Given the description of an element on the screen output the (x, y) to click on. 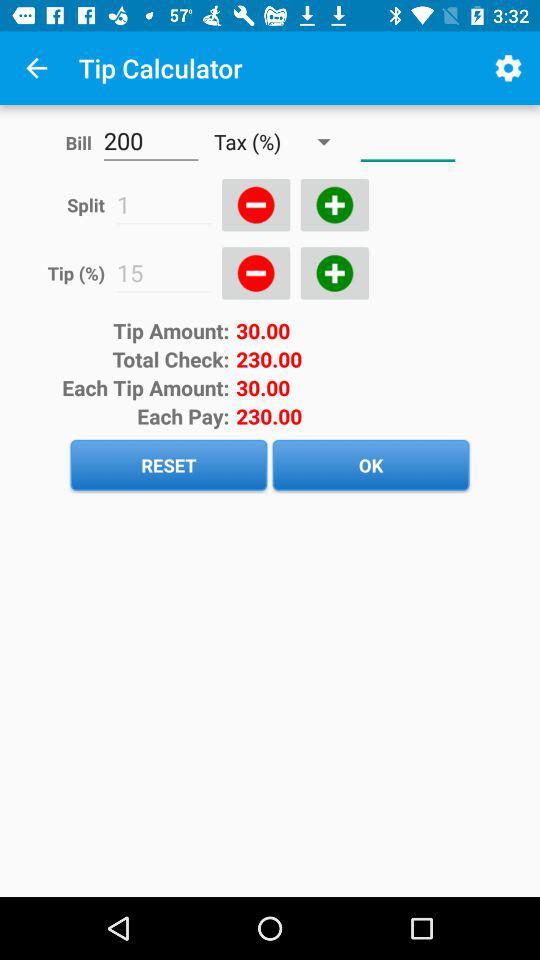
increase number of payers (334, 205)
